Given the description of an element on the screen output the (x, y) to click on. 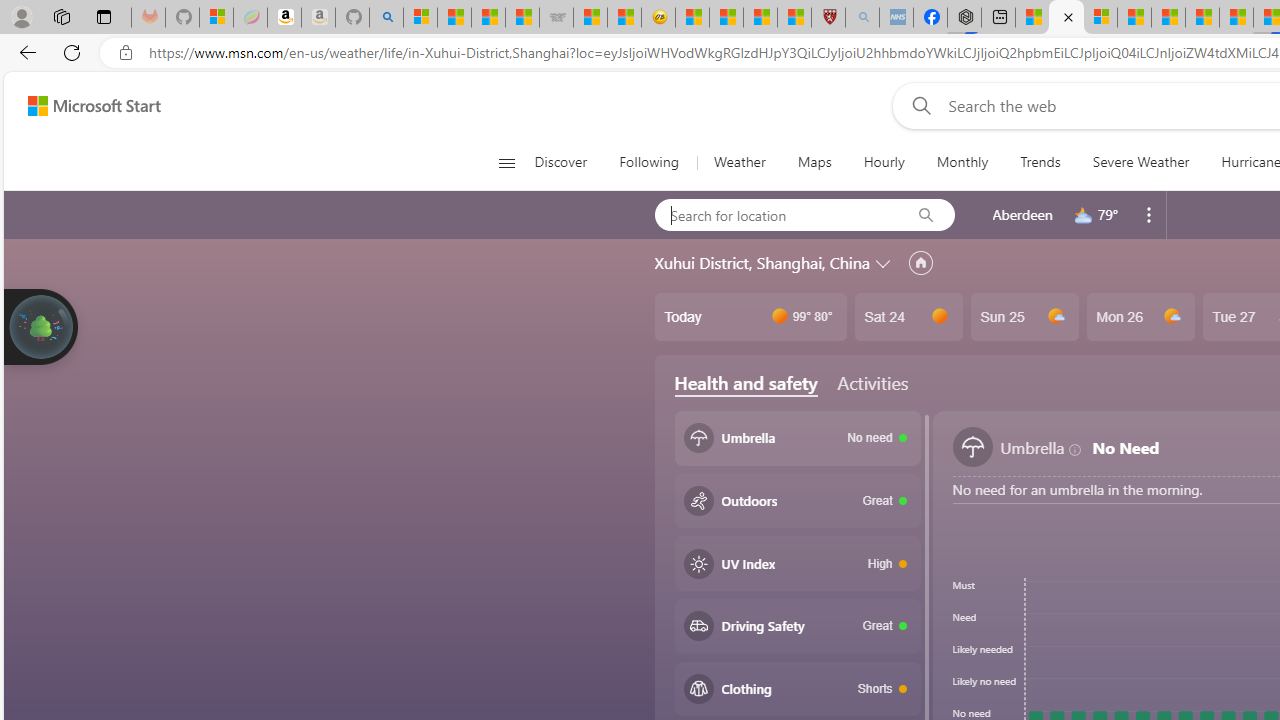
Umbrella No need (797, 438)
Sat 24 (907, 317)
Monthly (962, 162)
Join us in planting real trees to help our planet! (40, 327)
Search for location (776, 214)
Health and safety (745, 383)
